Given the description of an element on the screen output the (x, y) to click on. 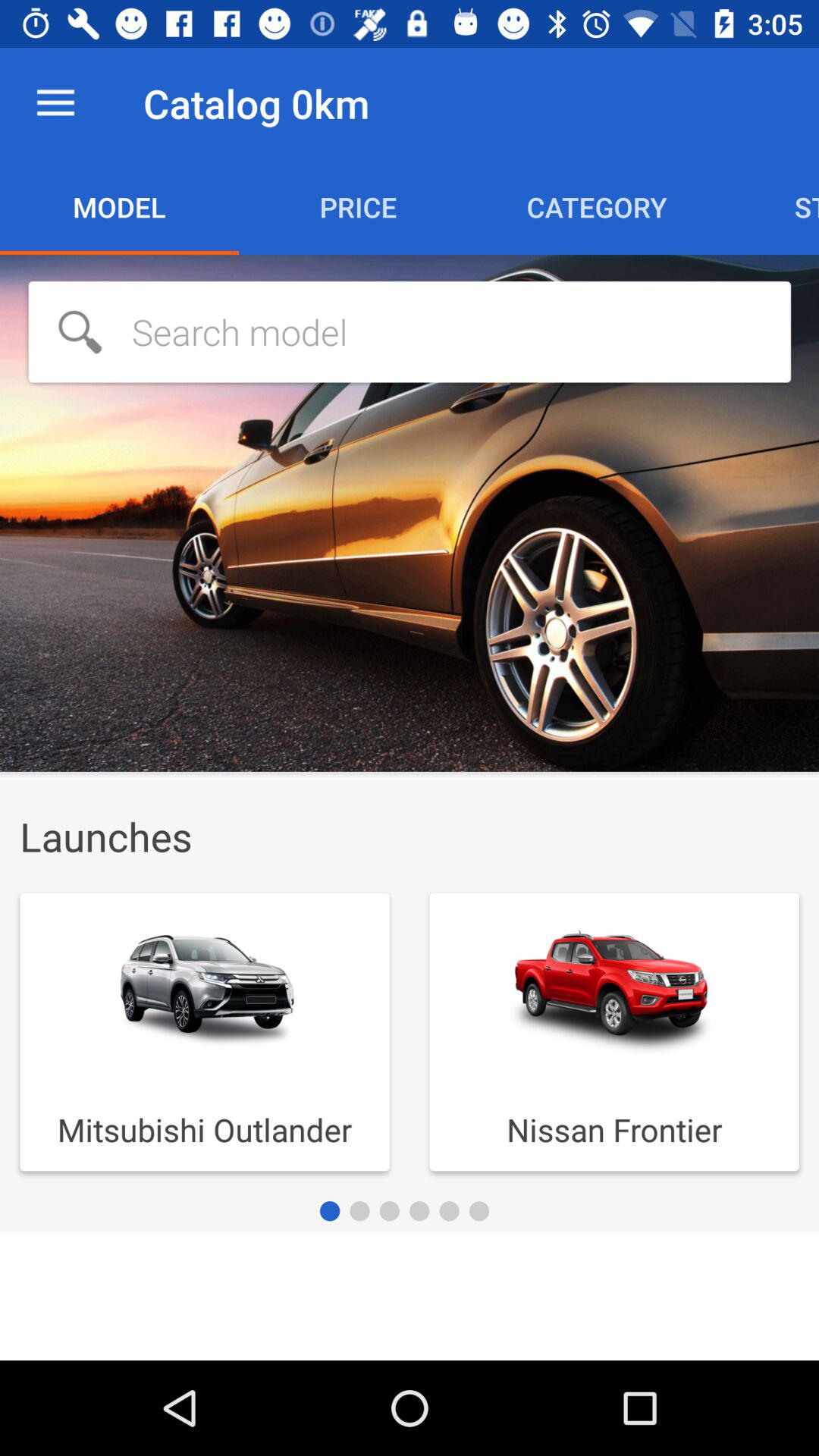
search model (409, 331)
